Given the description of an element on the screen output the (x, y) to click on. 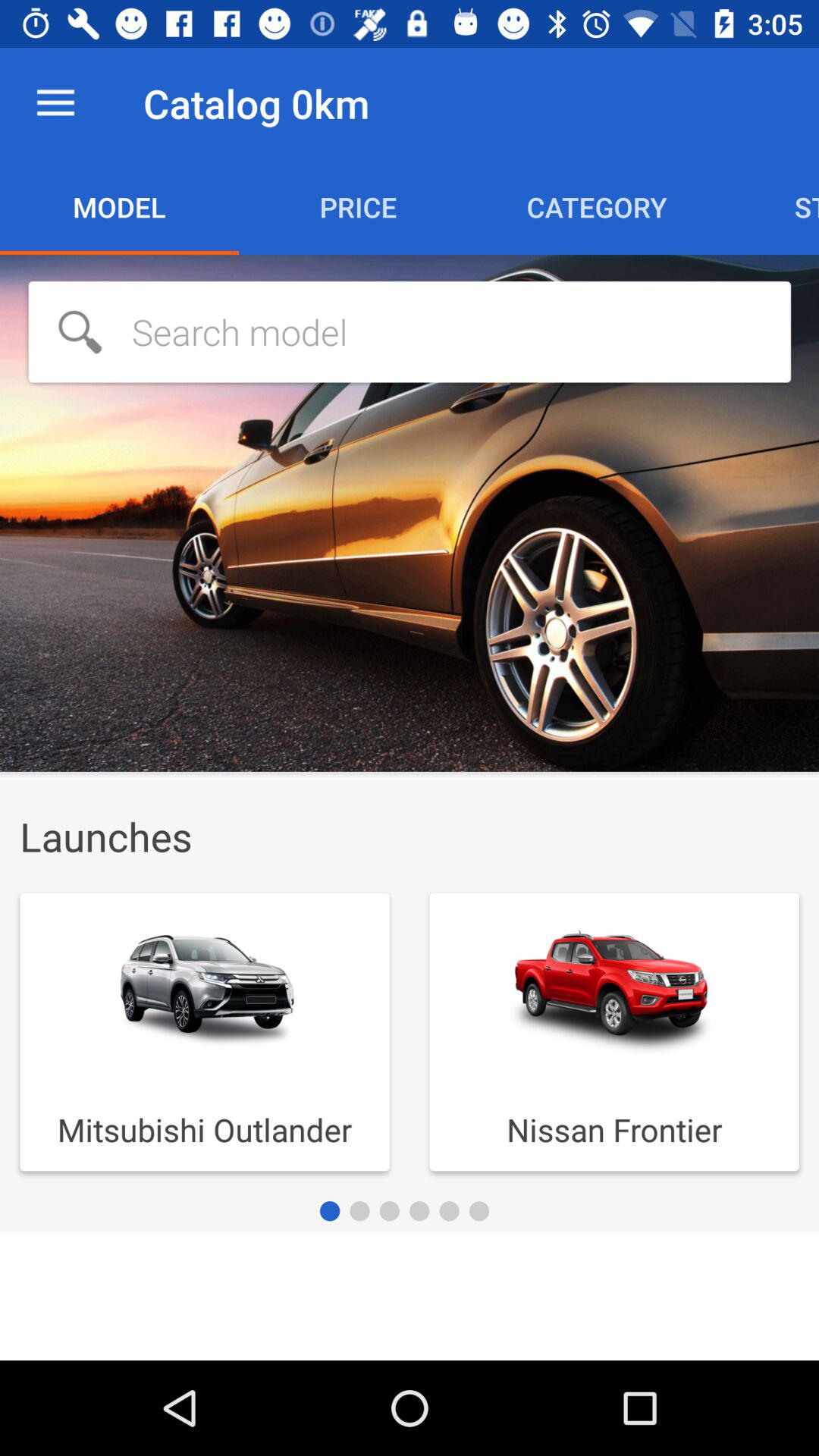
search model (409, 331)
